Given the description of an element on the screen output the (x, y) to click on. 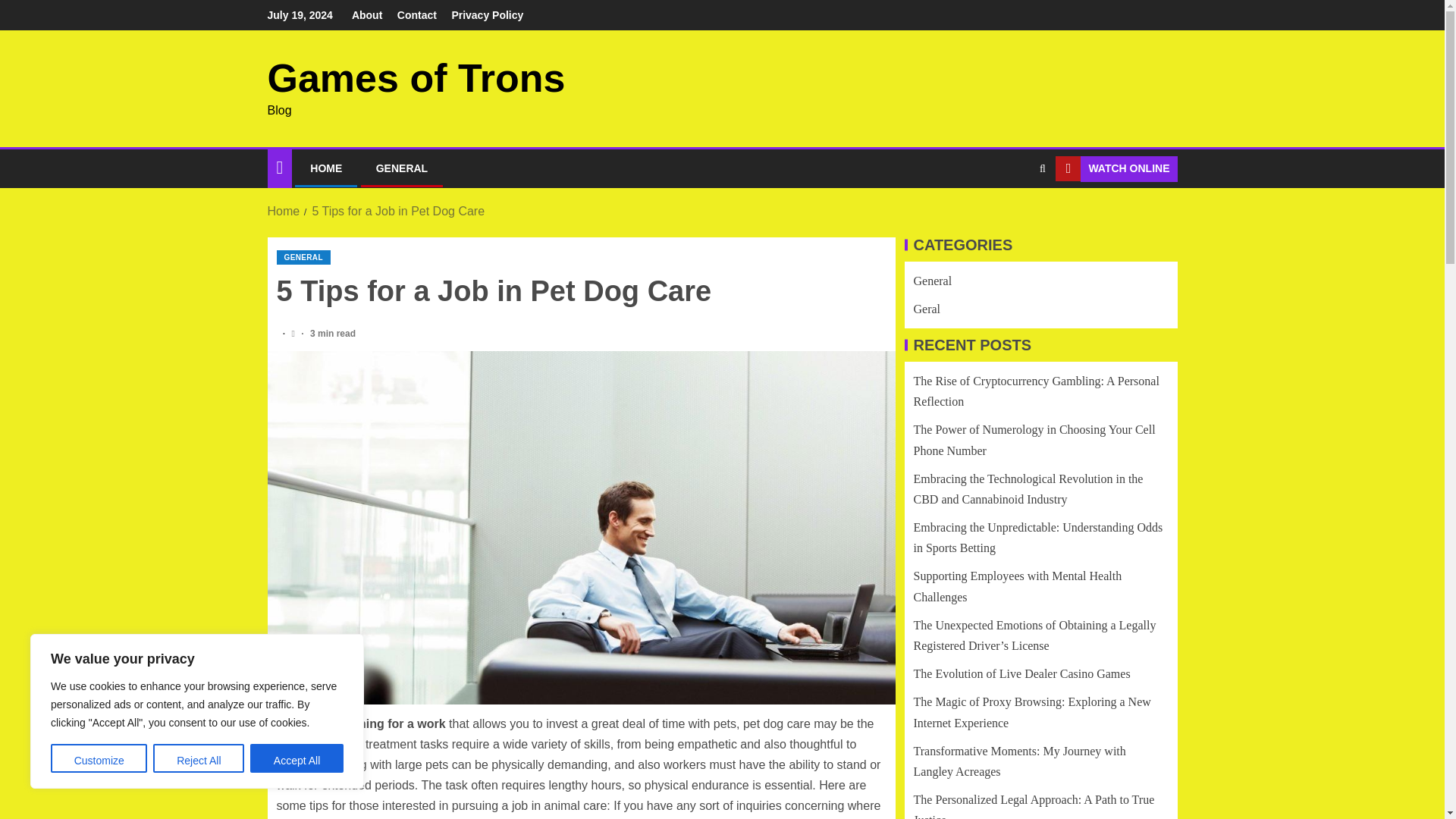
HOME (326, 168)
GENERAL (401, 168)
Customize (98, 758)
Privacy Policy (486, 15)
WATCH ONLINE (1115, 168)
5 Tips for a Job in Pet Dog Care (397, 210)
Reject All (198, 758)
Contact (416, 15)
Home (282, 210)
Games of Trons (415, 77)
GENERAL (303, 257)
Accept All (296, 758)
About (366, 15)
